Given the description of an element on the screen output the (x, y) to click on. 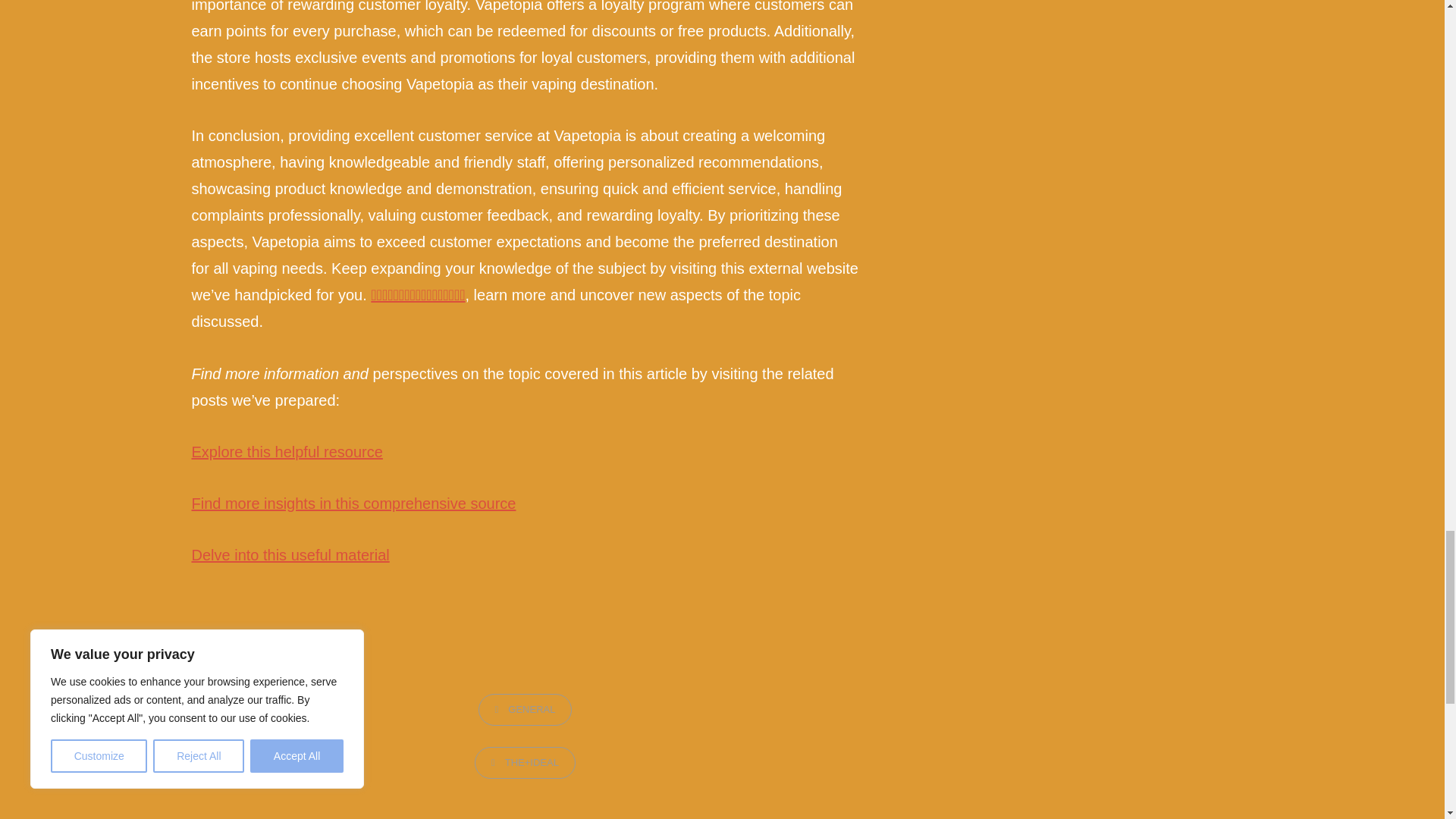
Find more insights in this comprehensive source (352, 503)
Explore this helpful resource (285, 451)
GENERAL (525, 709)
Delve into this useful material (289, 555)
